Given the description of an element on the screen output the (x, y) to click on. 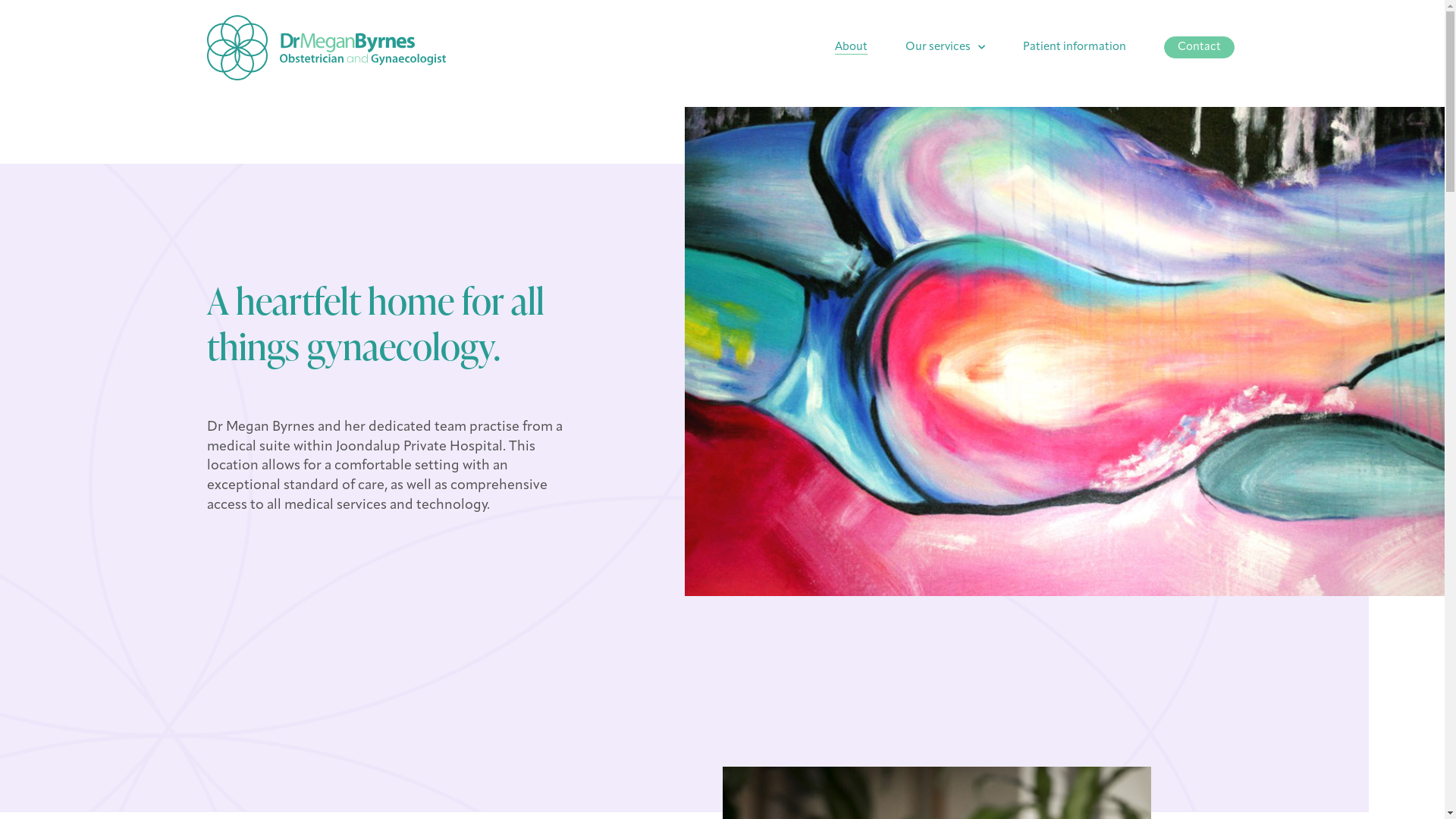
Patient information Element type: text (1074, 47)
Contact Element type: text (1199, 47)
About Element type: text (850, 47)
Our services Element type: text (945, 47)
